Given the description of an element on the screen output the (x, y) to click on. 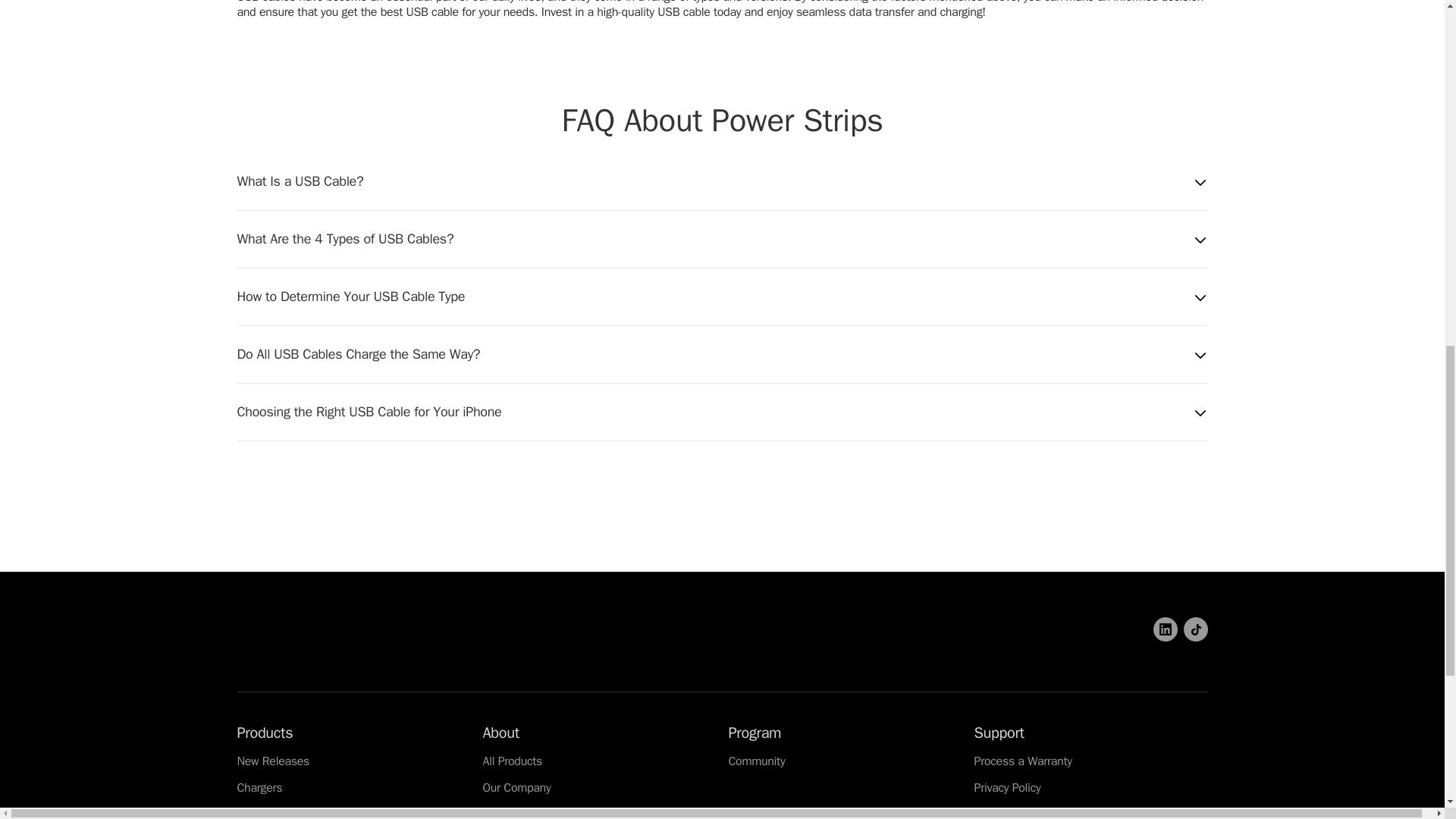
Power Banks (268, 812)
Chargers (258, 787)
New Releases (271, 761)
